Given the description of an element on the screen output the (x, y) to click on. 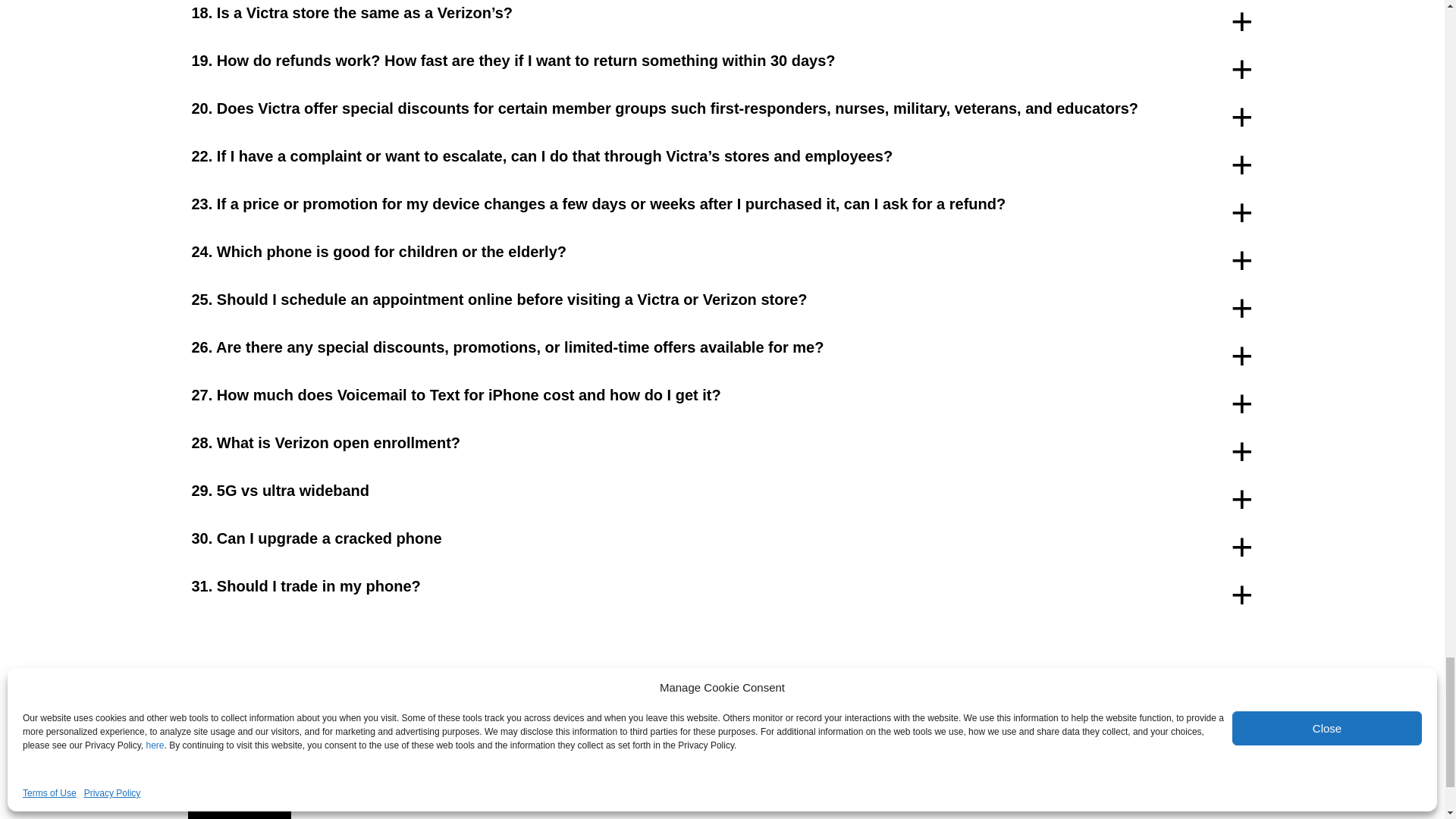
Instagram (721, 787)
Linkedin (751, 787)
Facebook (691, 787)
